Given the description of an element on the screen output the (x, y) to click on. 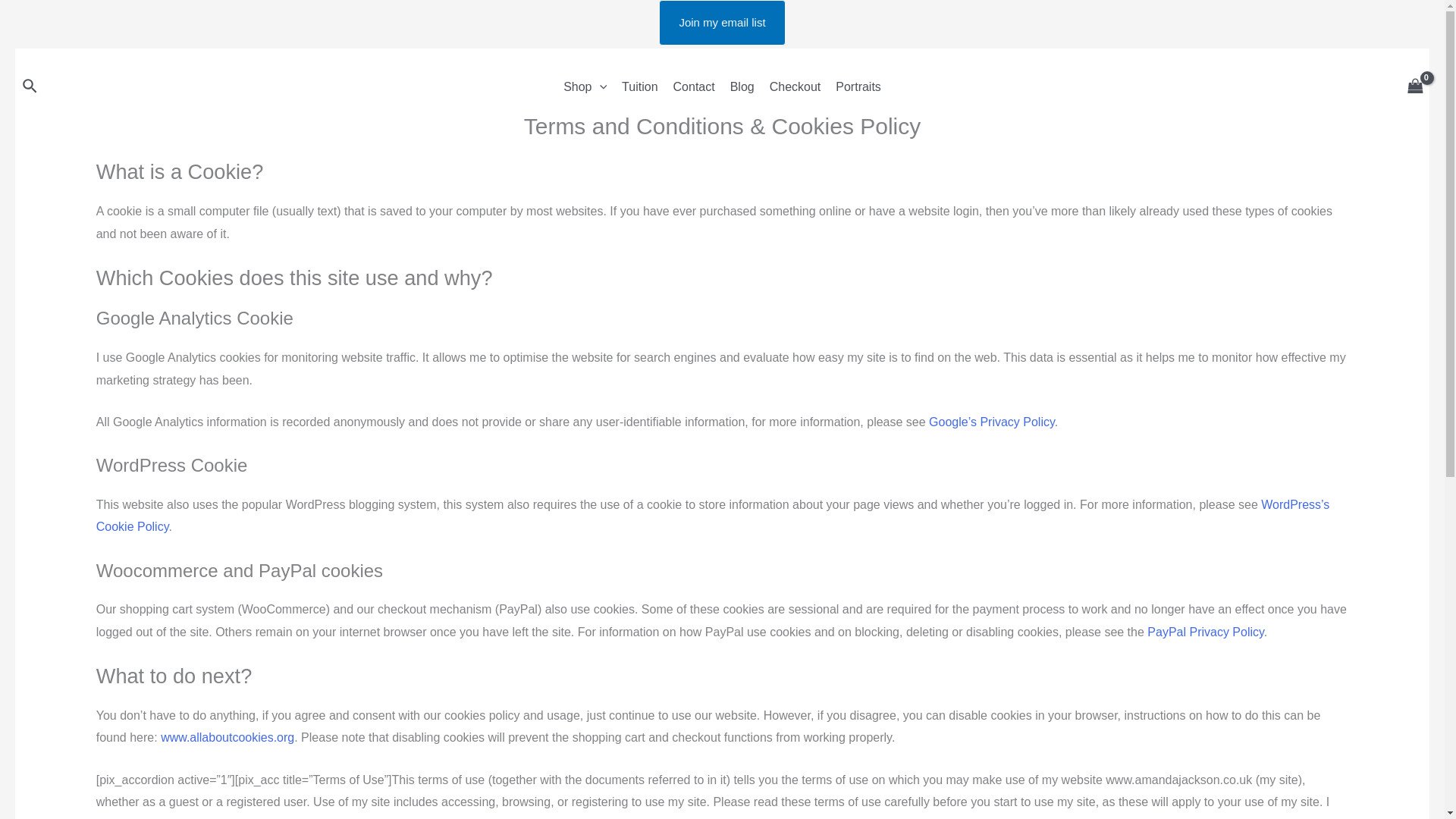
Checkout (794, 87)
PayPal Privacy Policy (1205, 631)
PayPal Privacy Policy (1205, 631)
www.allaboutcookies.org (227, 737)
Join my email list (721, 22)
